Given the description of an element on the screen output the (x, y) to click on. 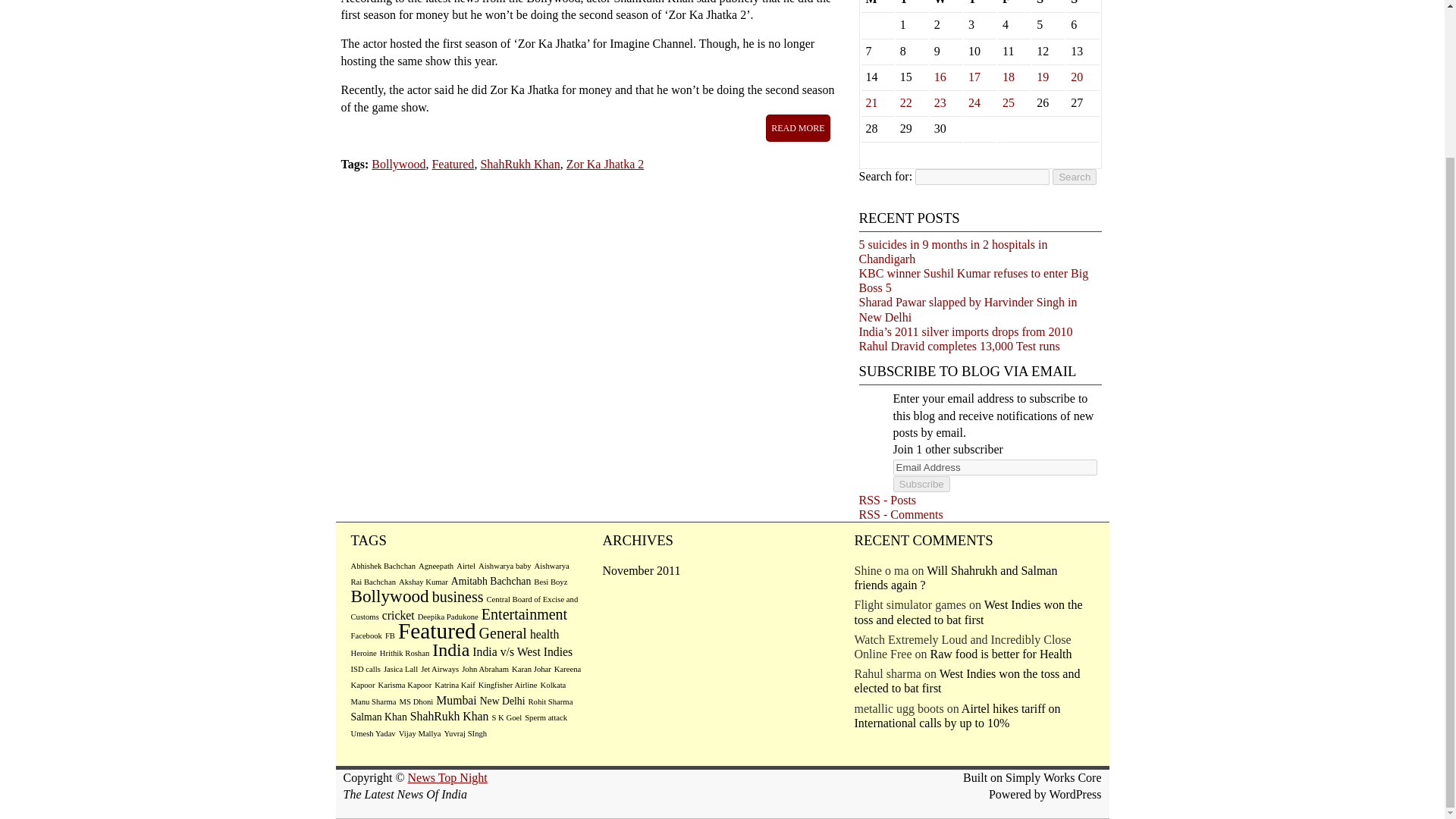
16 (940, 76)
Airtel (466, 565)
19 (1042, 76)
Search (1074, 176)
Bollywood (398, 164)
Tuesday (911, 5)
Sharad Pawar slapped by Harvinder Singh in New Delhi (968, 308)
Central Board of Excise and Customs (464, 607)
Rahul Dravid completes 13,000 Test runs (959, 345)
Agneepath (435, 565)
RSS - Comments (900, 513)
READ MORE (797, 127)
21 (871, 102)
ShahRukh Khan (519, 164)
Besi Boyz (550, 582)
